Given the description of an element on the screen output the (x, y) to click on. 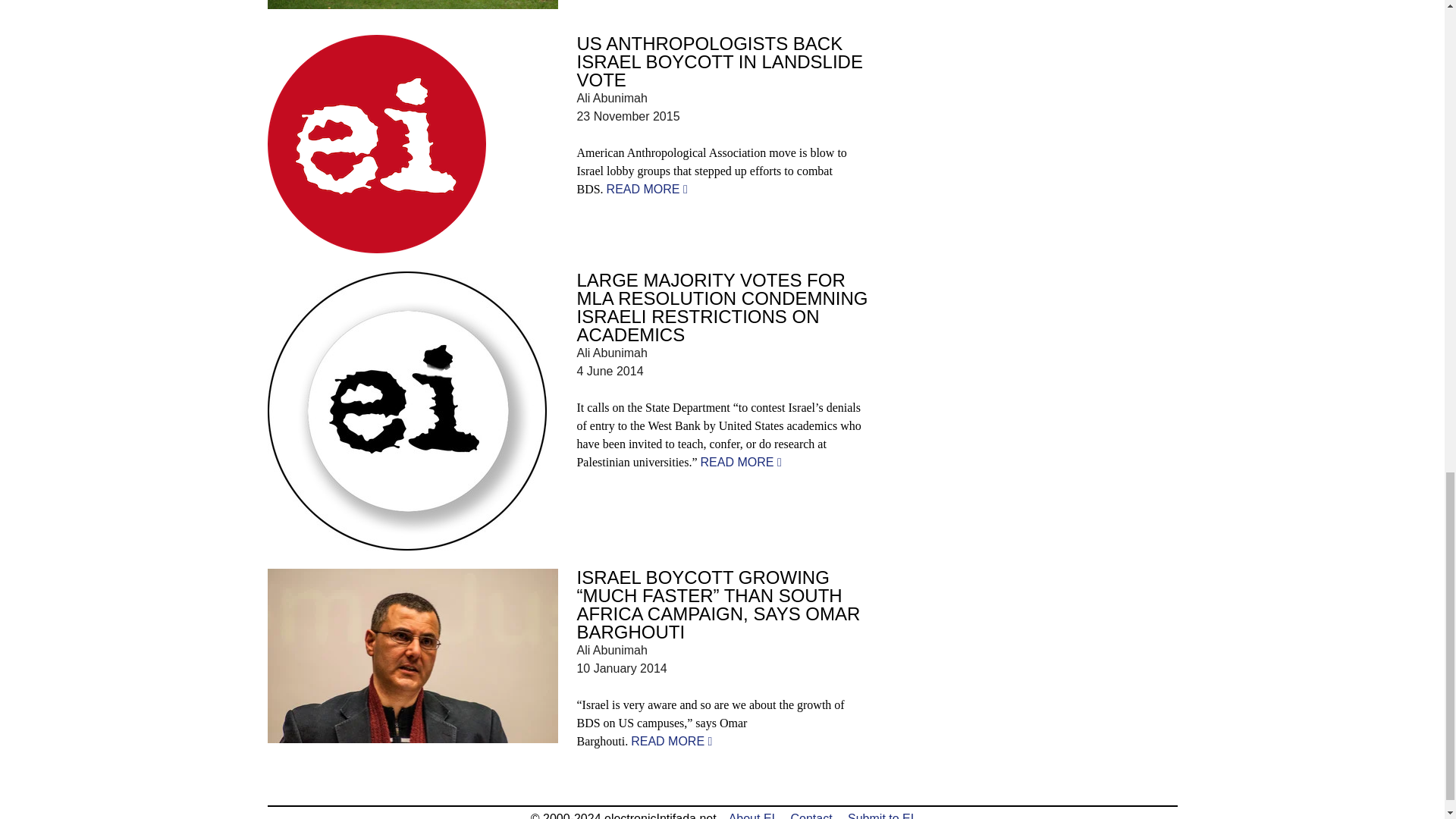
US anthropologists back Israel boycott in landslide vote (647, 188)
US ANTHROPOLOGISTS BACK ISRAEL BOYCOTT IN LANDSLIDE VOTE (718, 61)
